Given the description of an element on the screen output the (x, y) to click on. 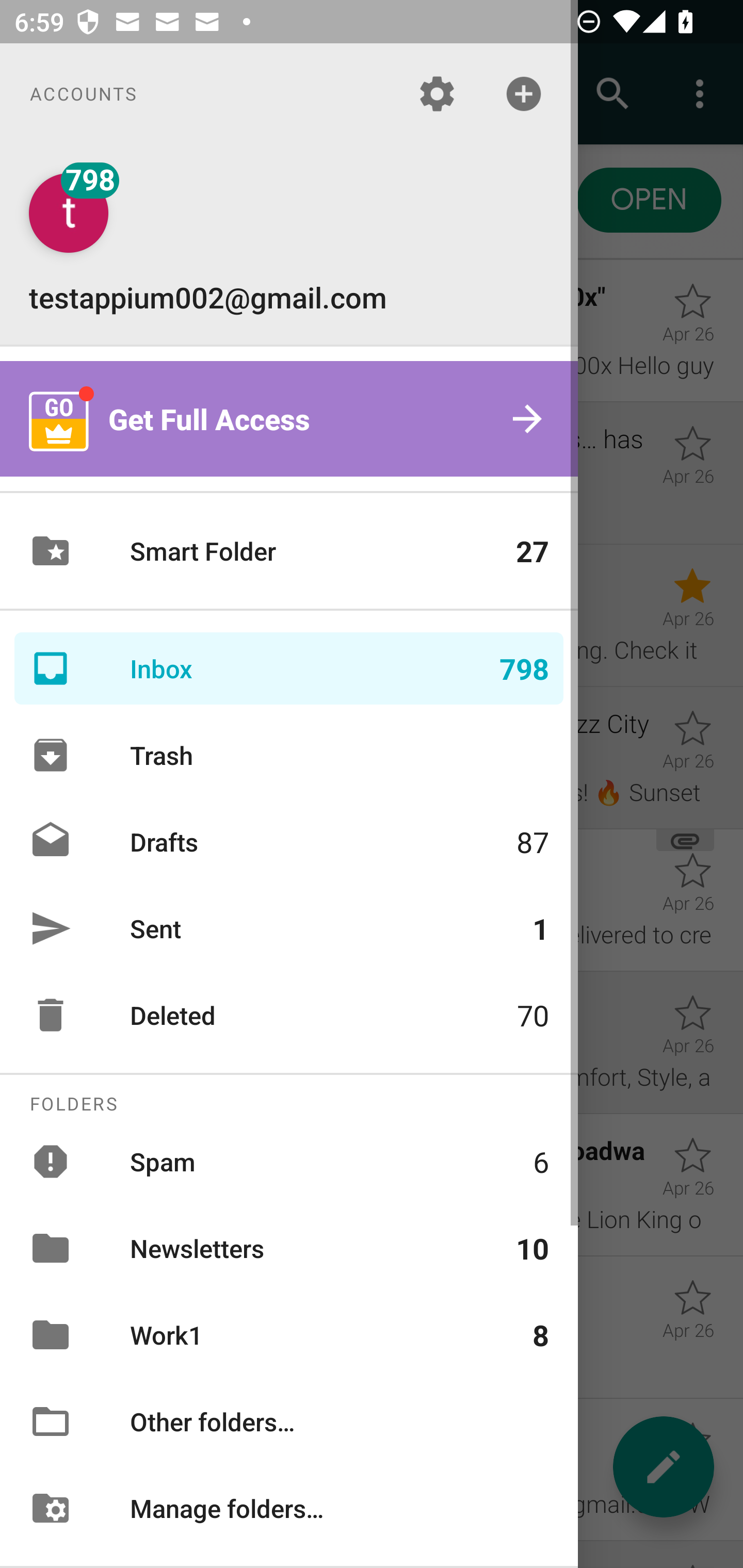
testappium002@gmail.com (289, 244)
Get Full Access (289, 418)
Smart Folder 27 (289, 551)
Inbox 798 (289, 668)
Trash (289, 754)
Drafts 87 (289, 841)
Sent 1 (289, 928)
Deleted 70 (289, 1015)
Spam 6 (289, 1160)
Newsletters 10 (289, 1248)
Work1 8 (289, 1335)
Other folders… (289, 1421)
Manage folders… (289, 1507)
